Given the description of an element on the screen output the (x, y) to click on. 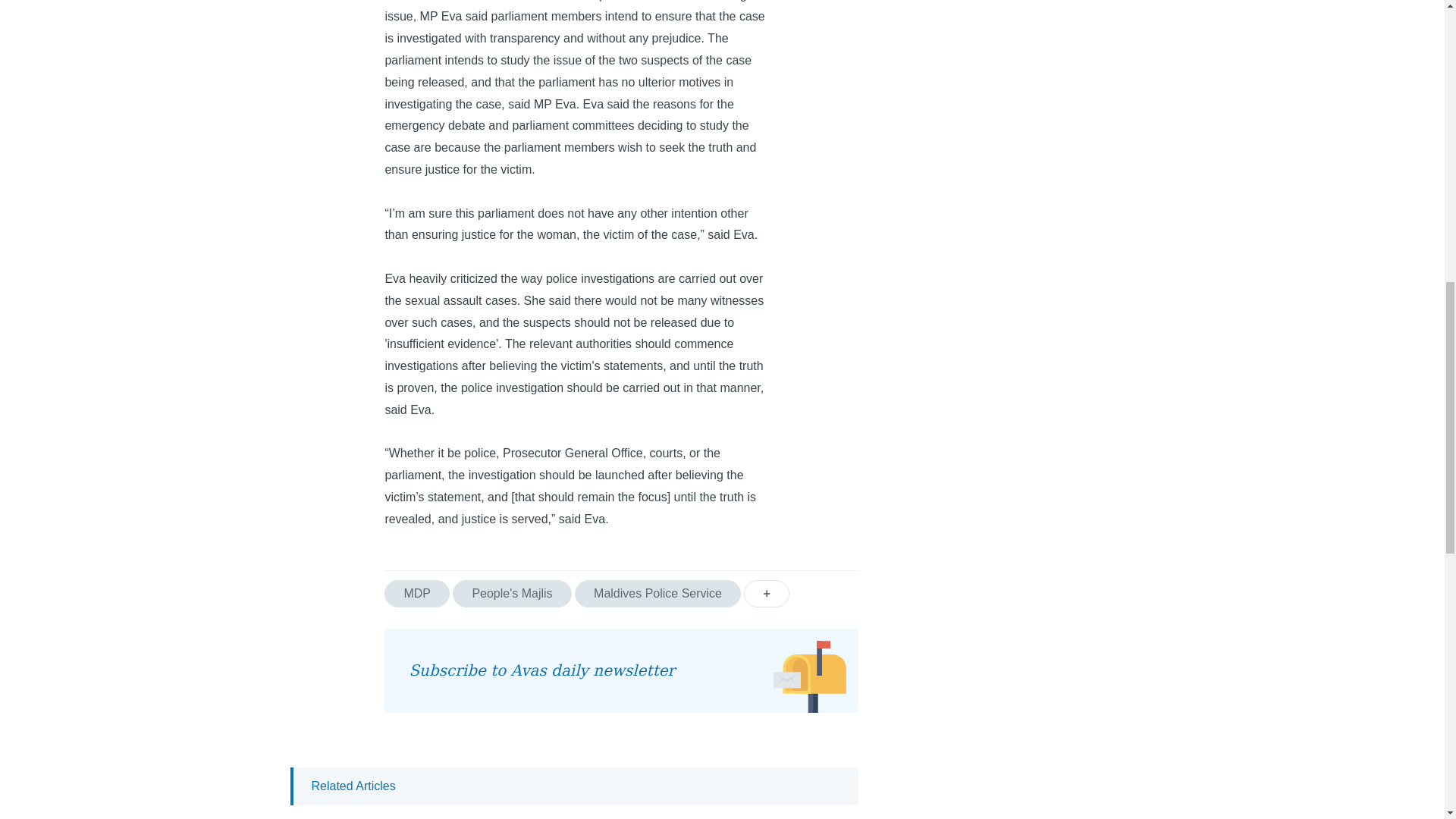
People's Majlis (511, 593)
MDP (416, 593)
Subscribe to Avas daily newsletter (620, 670)
Maldives Police Service (658, 593)
